Given the description of an element on the screen output the (x, y) to click on. 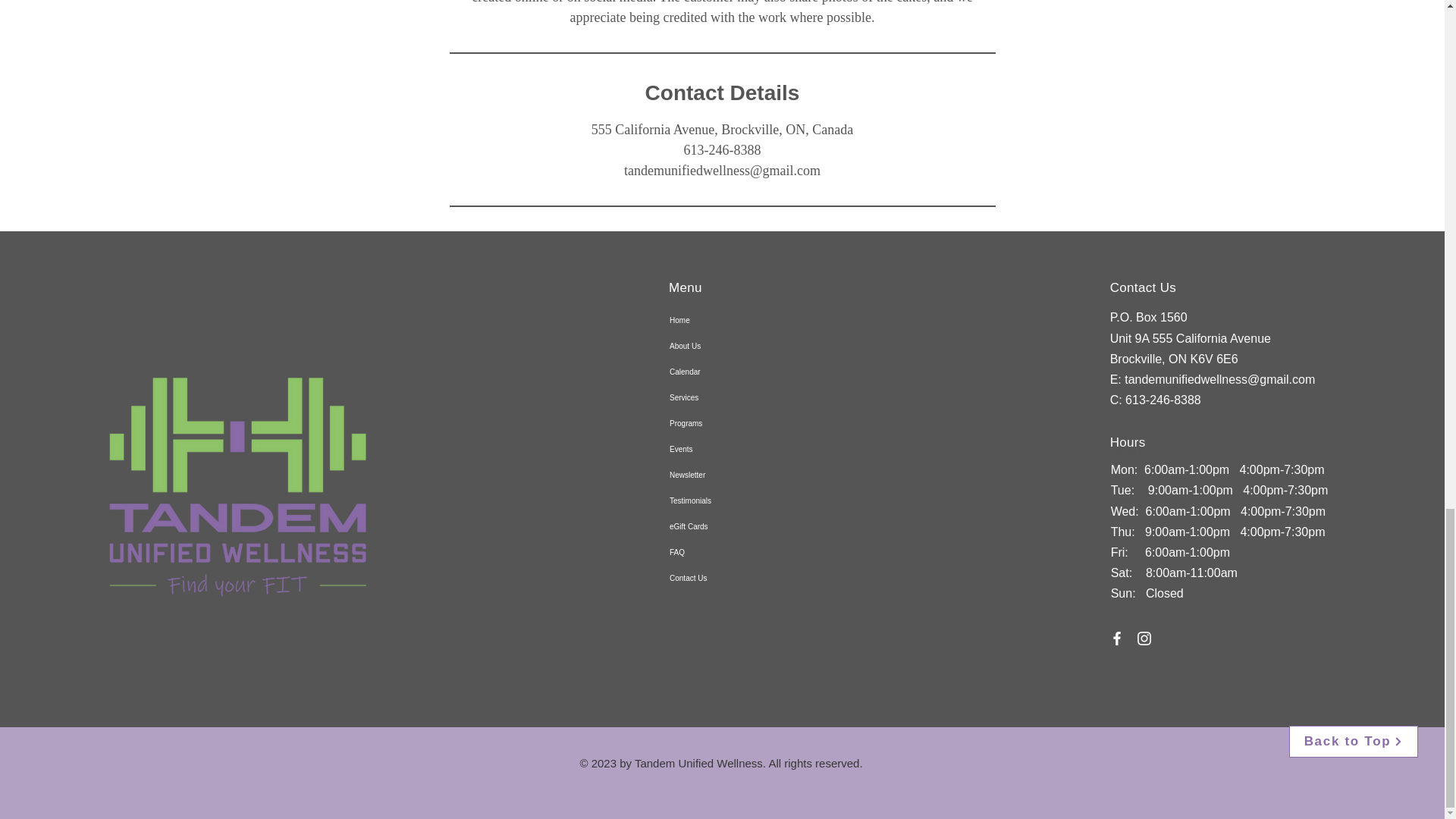
Calendar (723, 371)
Newsletter (723, 474)
Testimonials (723, 500)
Contact Us (723, 577)
Events (723, 448)
FAQ (723, 552)
Home (723, 319)
eGift Cards (723, 526)
About Us (723, 345)
